Given the description of an element on the screen output the (x, y) to click on. 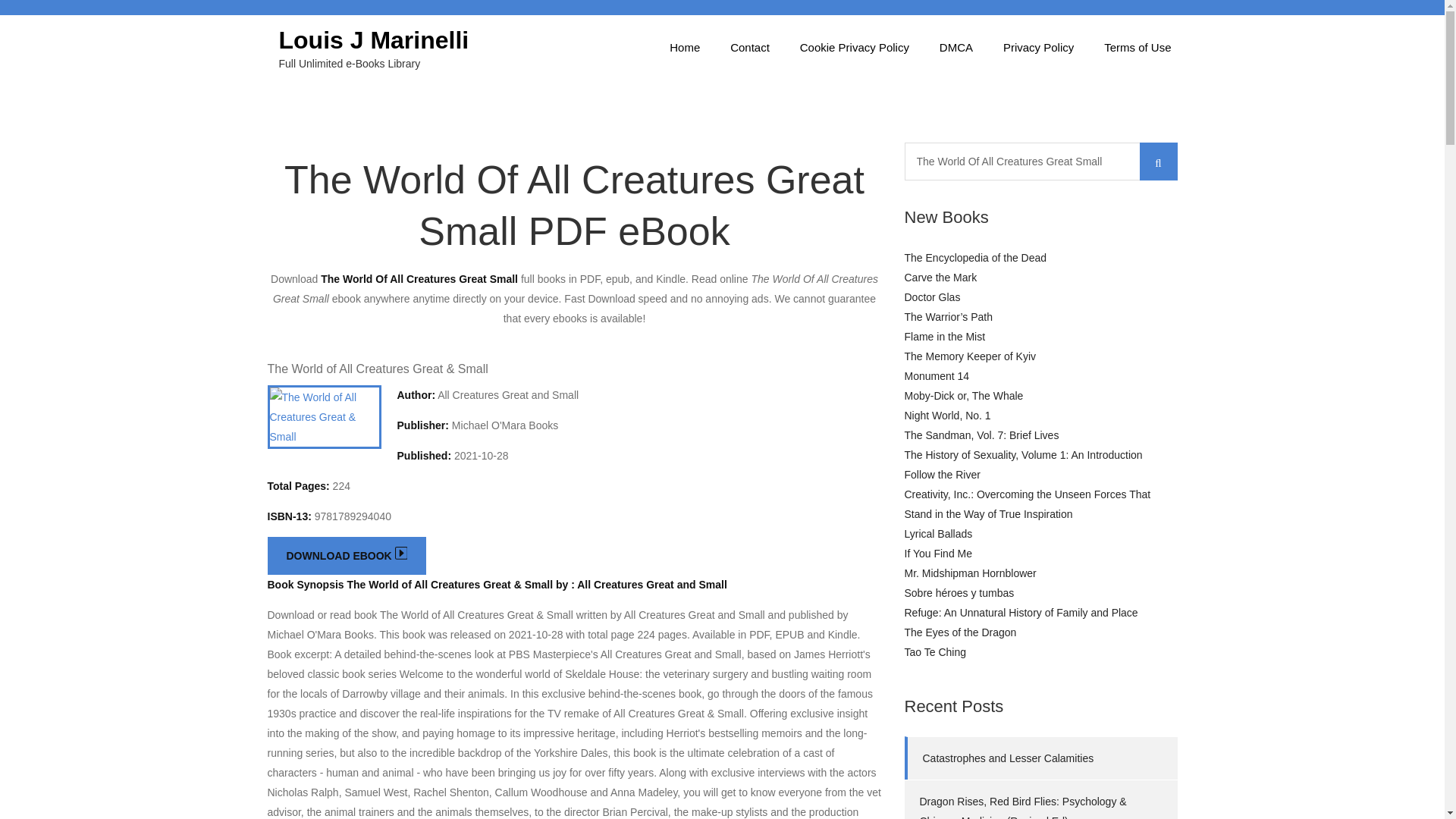
Louis J Marinelli (373, 40)
Contact (749, 47)
The World Of All Creatures Great Small (1040, 161)
Search (1157, 161)
DMCA (956, 47)
DOWNLOAD EBOOK (346, 555)
The World Of All Creatures Great Small (1040, 161)
Cookie Privacy Policy (854, 47)
Terms of Use (1137, 47)
